Given the description of an element on the screen output the (x, y) to click on. 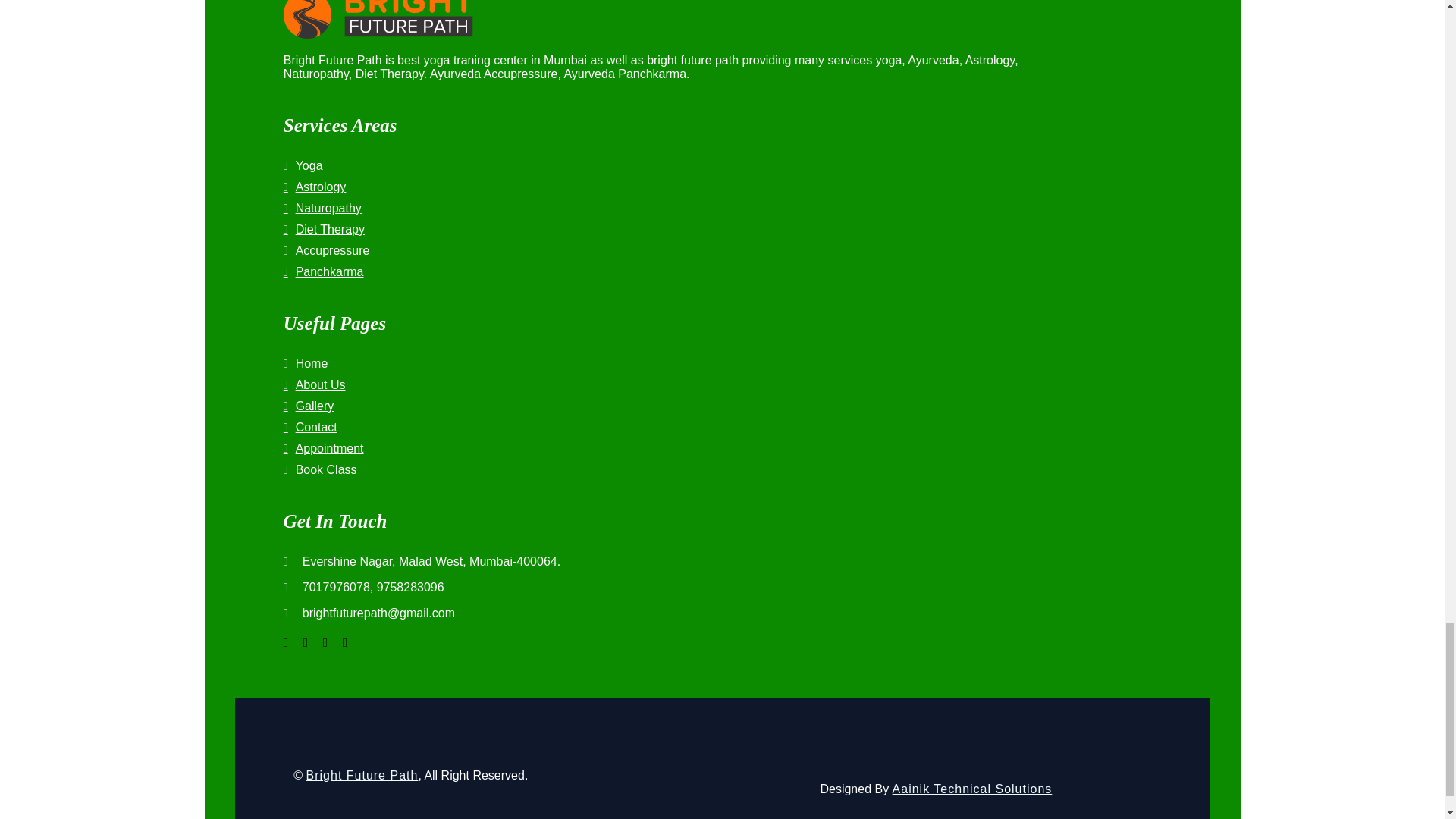
Yoga (662, 165)
Naturopathy (662, 208)
Astrology (662, 187)
